Given the description of an element on the screen output the (x, y) to click on. 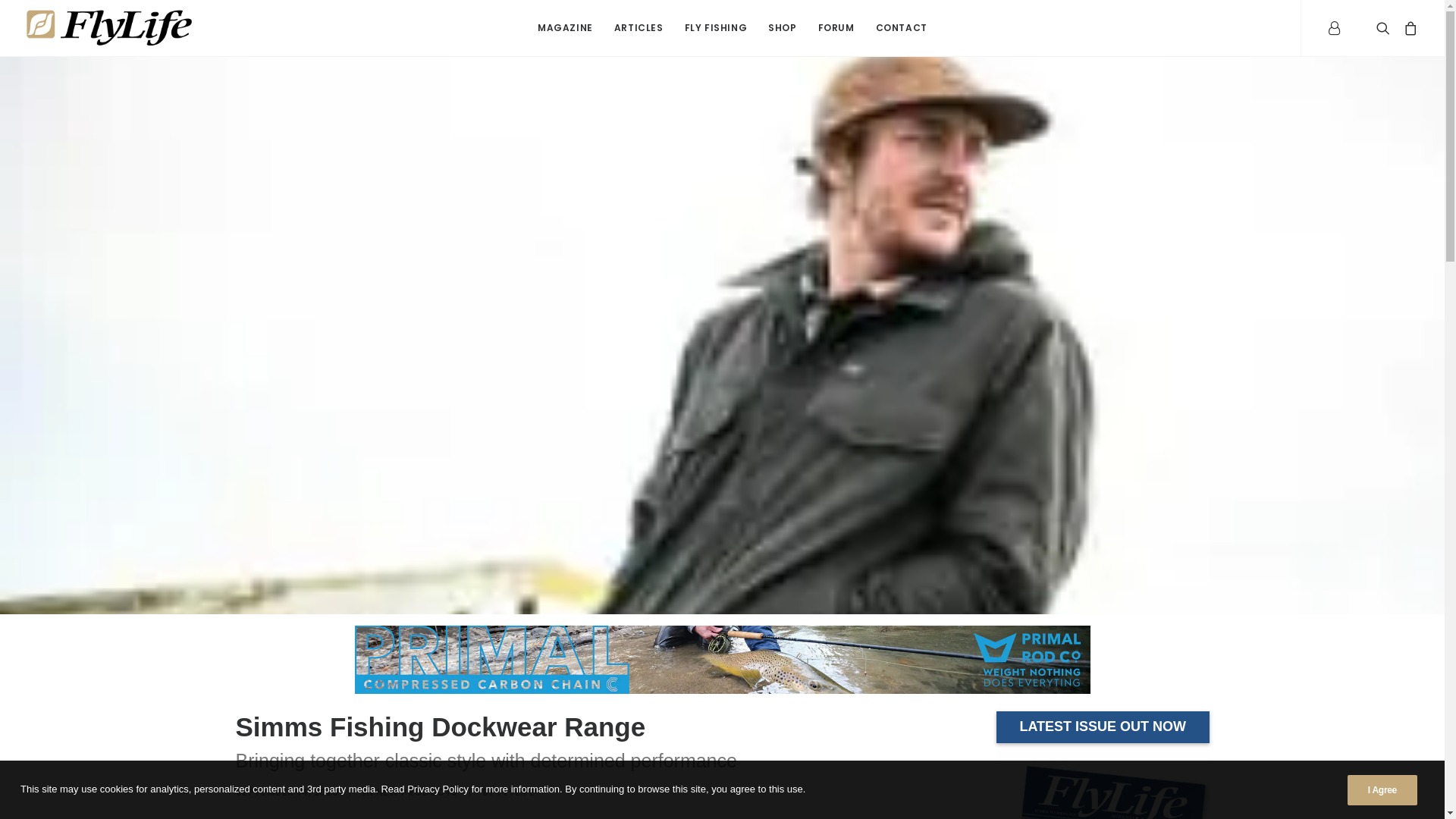
FORUM Element type: text (836, 28)
cart Element type: hover (1407, 28)
I Agree Element type: text (1382, 790)
CONTACT Element type: text (901, 28)
FLYLIFE Element type: text (515, 791)
SHOP Element type: text (781, 28)
MAGAZINE Element type: text (565, 28)
ARTICLES Element type: text (638, 28)
FLY FISHING Element type: text (716, 28)
MY ACCOUNT Element type: text (1338, 28)
NEW PRODUCTS Element type: text (417, 791)
